Given the description of an element on the screen output the (x, y) to click on. 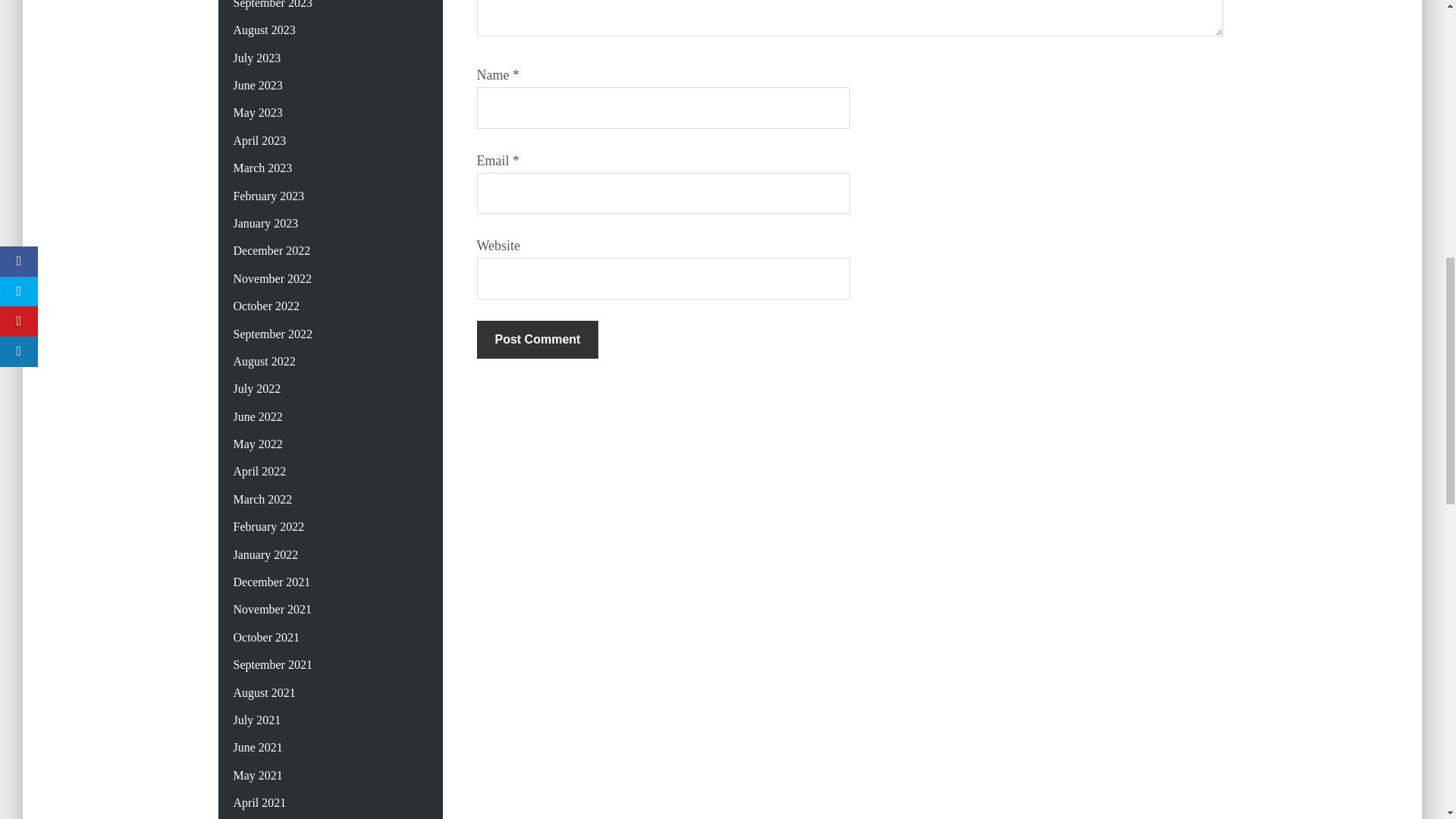
Post Comment (537, 339)
